Given the description of an element on the screen output the (x, y) to click on. 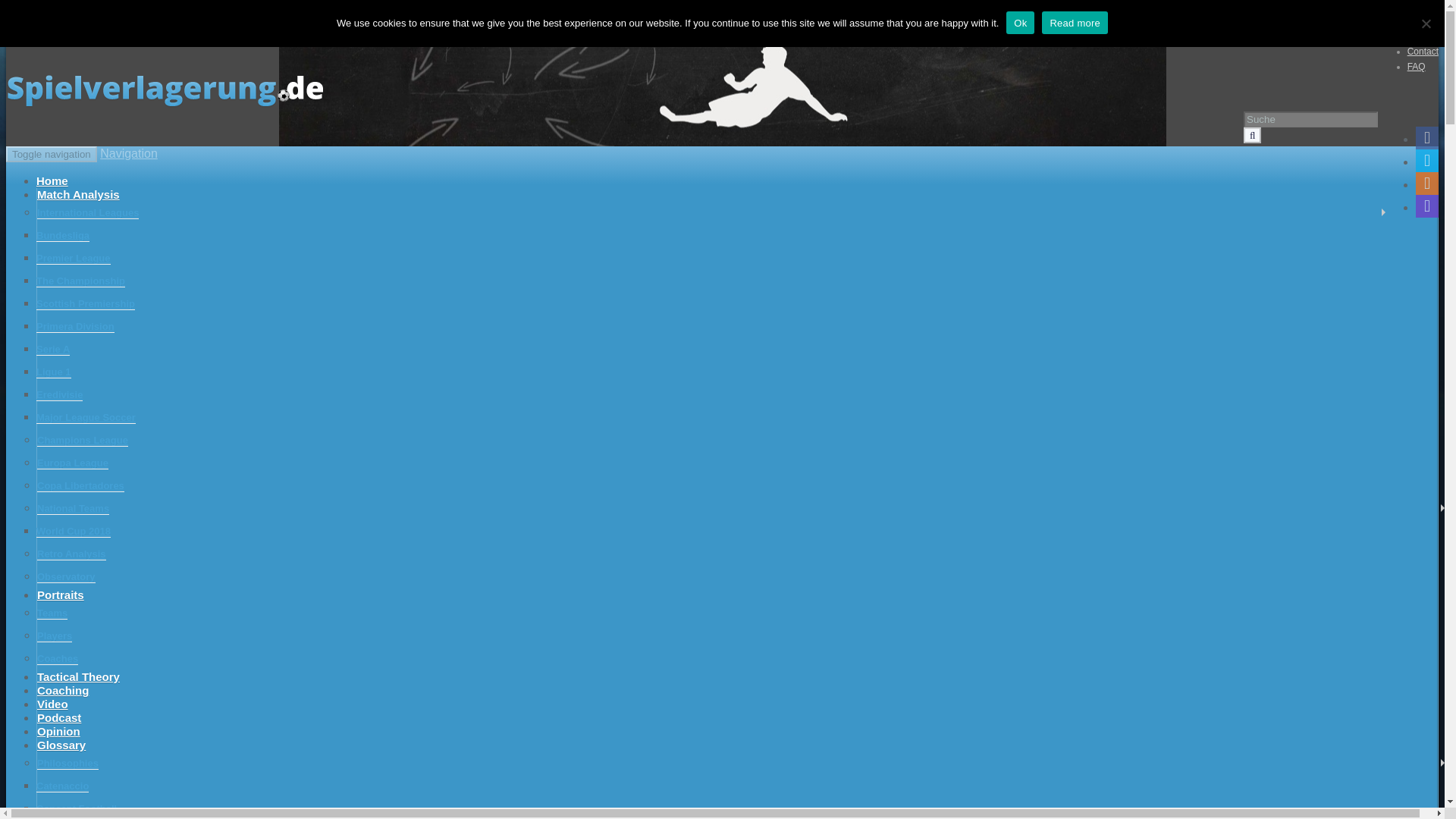
Tactical Theory (78, 676)
Home (52, 180)
Major League Soccer (85, 417)
Match Analysis (78, 194)
The Championship (80, 281)
Ligue 1 (53, 372)
International Leagues (87, 213)
Toggle navigation (51, 154)
Bundesliga (62, 235)
Europa League (72, 463)
Players (54, 635)
Navigation (128, 153)
Scottish Premiership (85, 304)
Opinion (58, 730)
Podcast (59, 717)
